Given the description of an element on the screen output the (x, y) to click on. 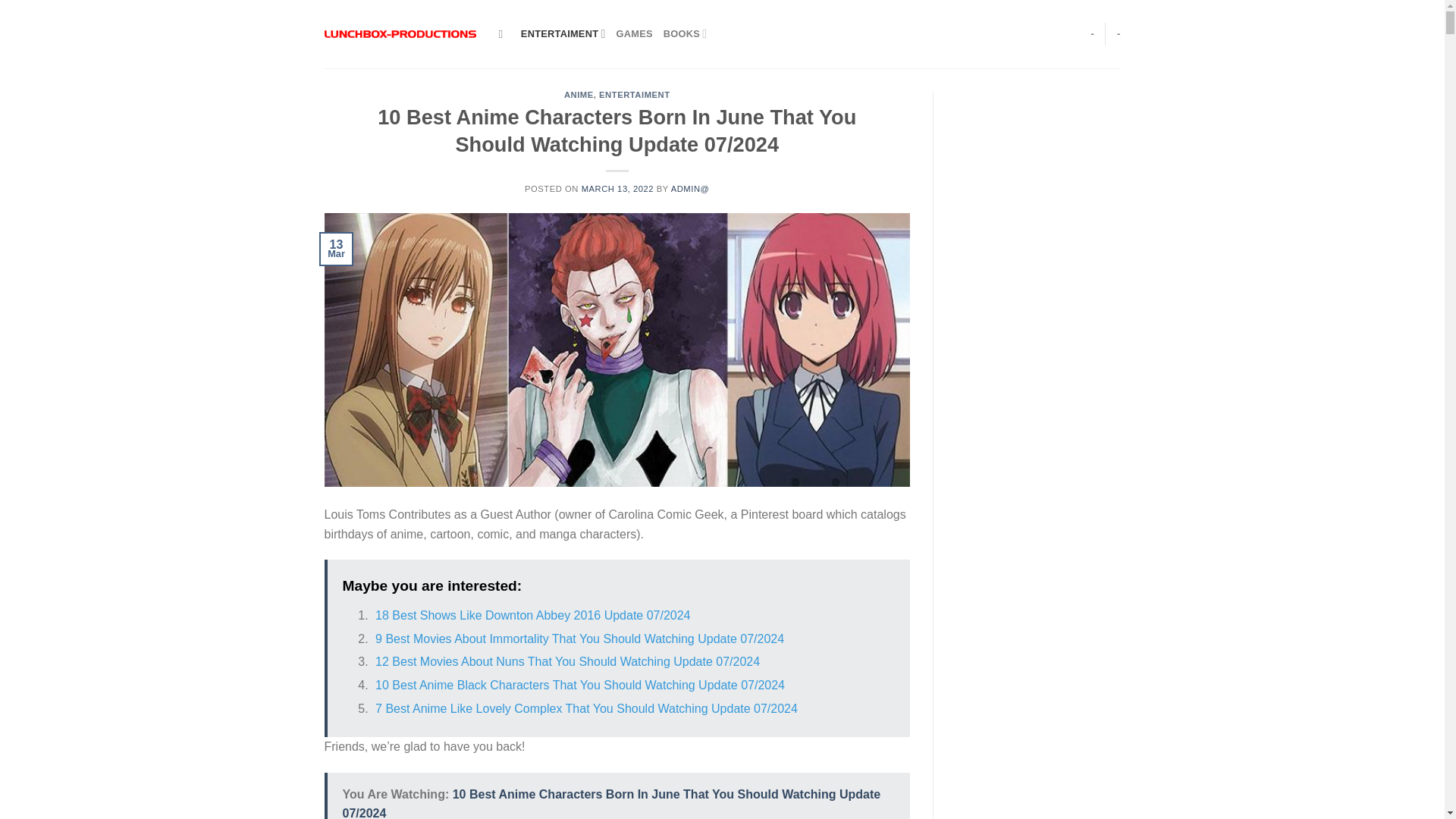
MARCH 13, 2022 (616, 188)
BOOKS (685, 33)
ENTERTAIMENT (563, 33)
GAMES (633, 33)
ENTERTAIMENT (633, 94)
ANIME (579, 94)
Lunchbox Theatrical Productions (400, 33)
